Given the description of an element on the screen output the (x, y) to click on. 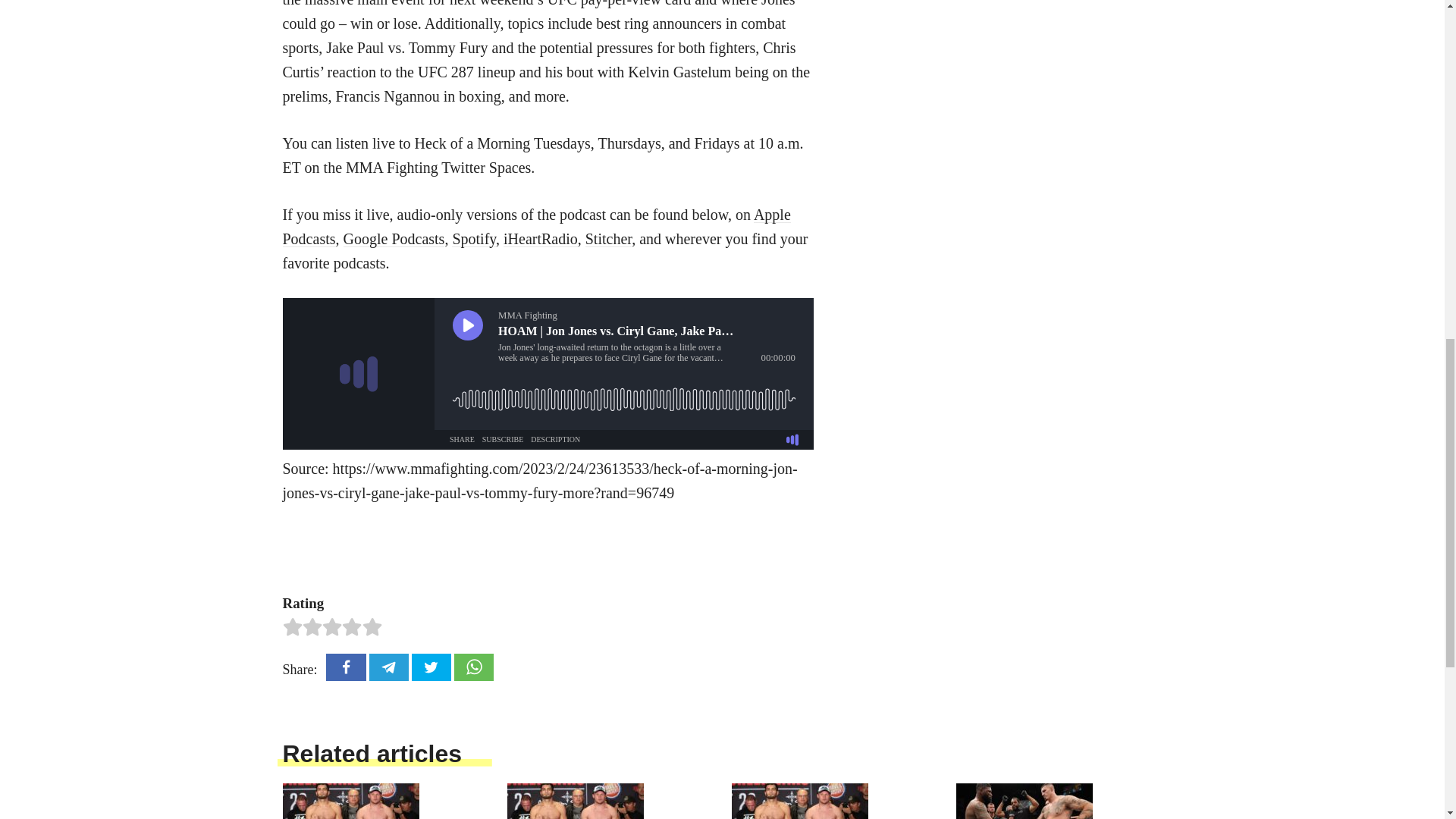
Google Podcasts (393, 238)
Apple Podcasts (536, 226)
Spotify (473, 238)
Stitcher (608, 238)
iHeartRadio (540, 238)
